Given the description of an element on the screen output the (x, y) to click on. 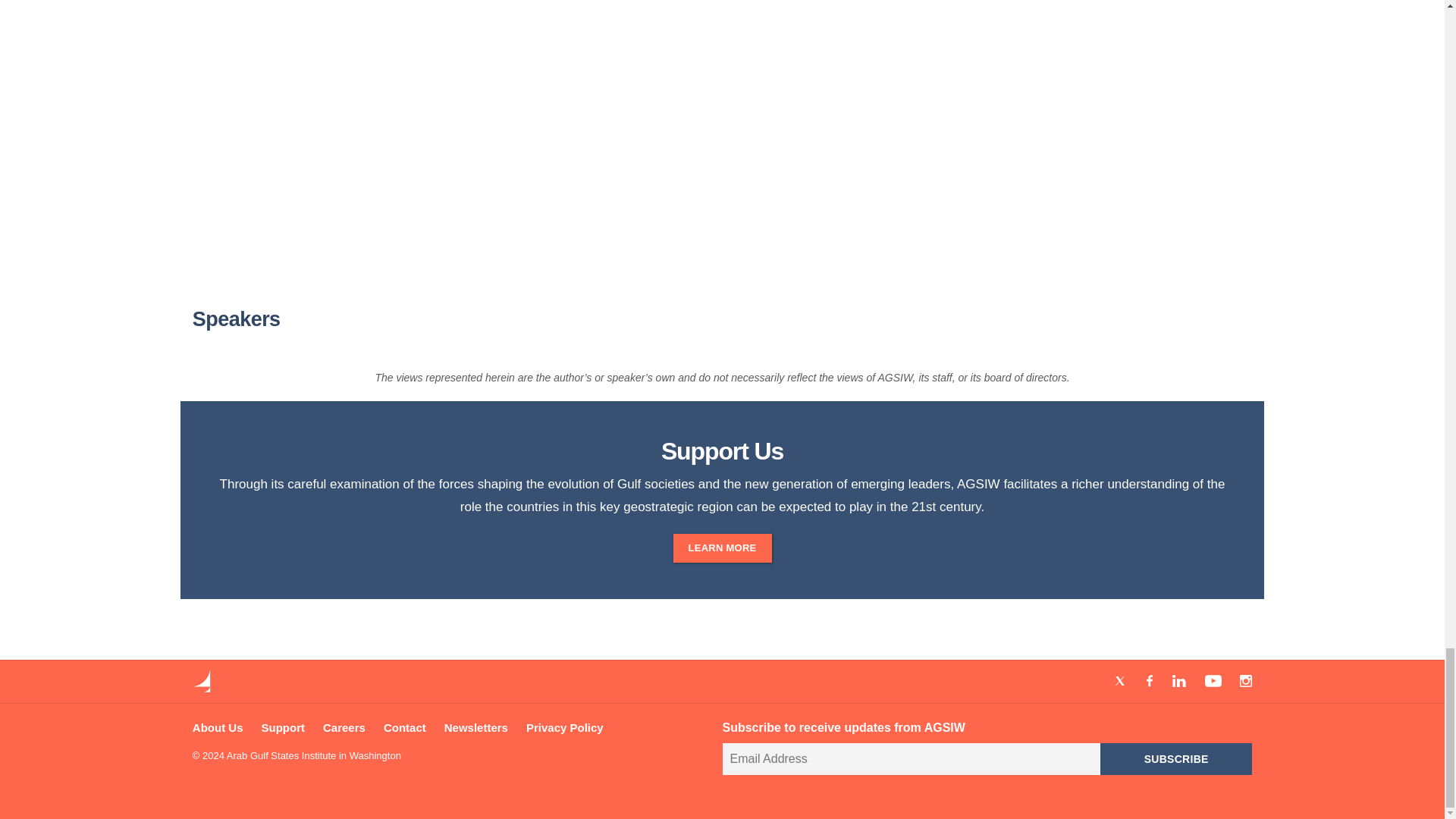
LEARN MORE (721, 547)
Subscribe (1176, 758)
The Arab Gulf States Institute in Washington (201, 687)
